Given the description of an element on the screen output the (x, y) to click on. 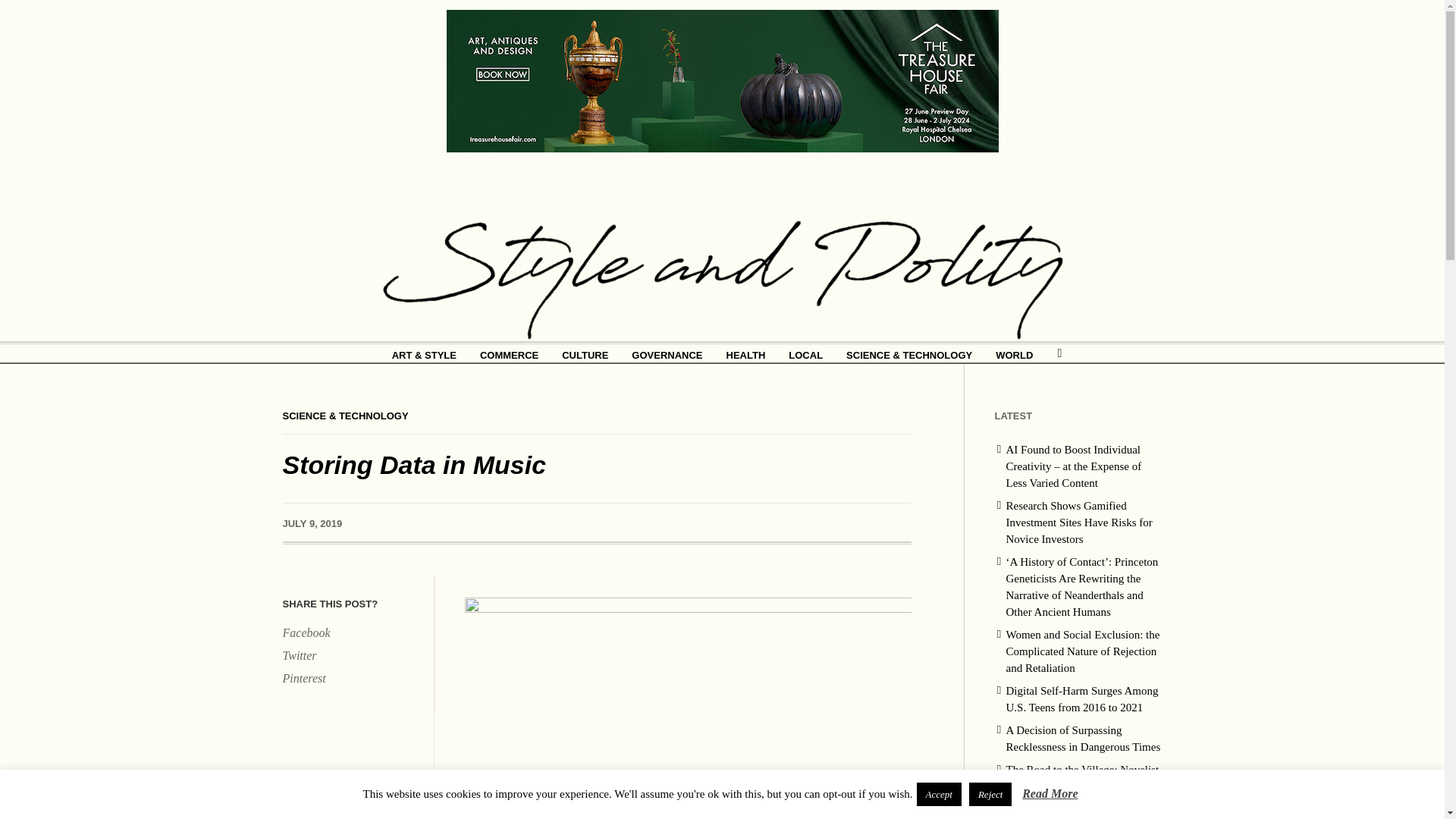
Digital Self-Harm Surges Among U.S. Teens from 2016 to 2021 (1081, 698)
A Decision of Surpassing Recklessness in Dangerous Times (1083, 737)
CULTURE (585, 352)
Pinterest (349, 678)
COMMERCE (509, 352)
Twitter (349, 655)
July 9, 2019 (312, 523)
Facebook (349, 632)
LOCAL (805, 352)
HEALTH (745, 352)
WORLD (1013, 352)
GOVERNANCE (666, 352)
